Given the description of an element on the screen output the (x, y) to click on. 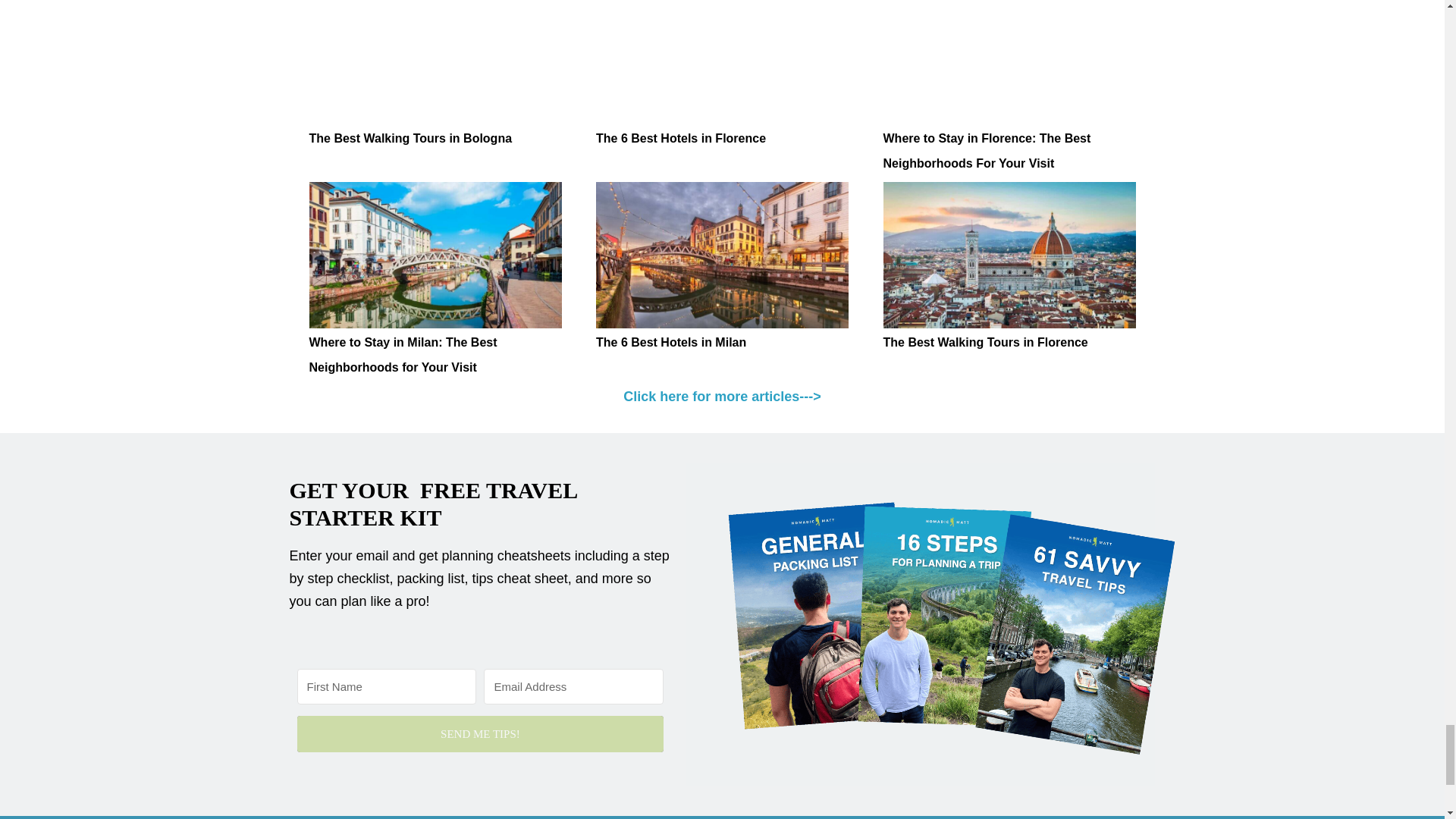
The Best Walking Tours in Bologna (410, 137)
The 6 Best Hotels in Milan (670, 341)
The 6 Best Hotels in Florence (721, 62)
The Best Walking Tours in Florence (984, 341)
The Best Walking Tours in Florence (1008, 254)
The 6 Best Hotels in Milan (721, 254)
